Given the description of an element on the screen output the (x, y) to click on. 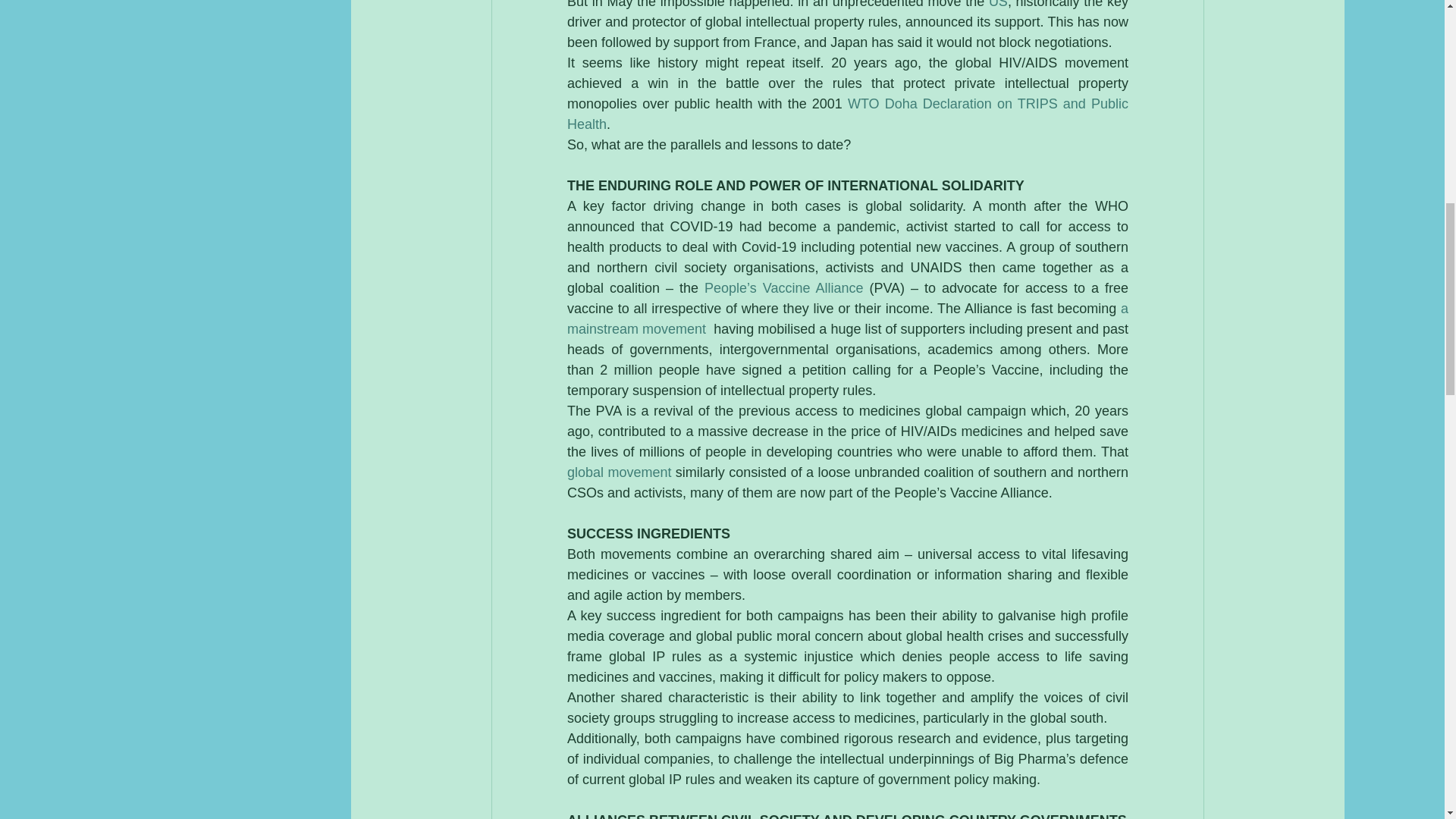
WTO Doha Declaration on TRIPS and Public Health (849, 113)
a mainstream movement (849, 318)
global movement  (621, 472)
US (997, 4)
